Given the description of an element on the screen output the (x, y) to click on. 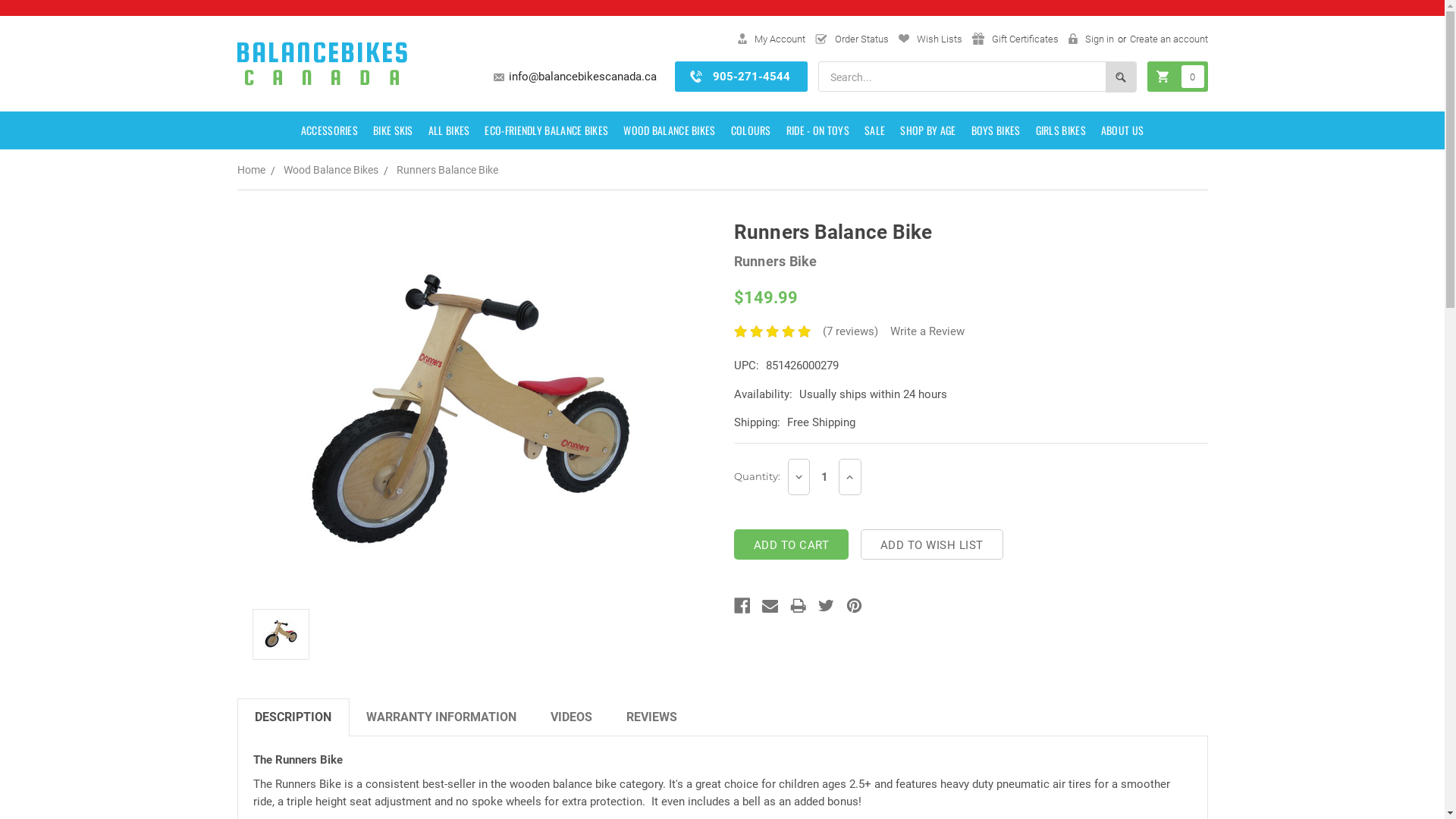
DECREASE QUANTITY: Element type: text (798, 476)
Gift Certificates Element type: text (1015, 39)
DESCRIPTION Element type: text (293, 717)
ACCESSORIES Element type: text (329, 130)
GIRLS BIKES Element type: text (1060, 130)
Order Status Element type: text (851, 39)
Runners Balance Bike Wooden  Element type: hover (281, 633)
Runners Balance Bike Element type: text (446, 169)
My Account Element type: text (770, 39)
ECO-FRIENDLY BALANCE BIKES Element type: text (545, 130)
ALL BIKES Element type: text (448, 130)
COLOURS Element type: text (750, 130)
SHOP BY AGE Element type: text (927, 130)
ABOUT US Element type: text (1122, 130)
Add to Cart Element type: text (791, 544)
905-271-4544 Element type: text (751, 76)
Runners Bike Element type: text (775, 261)
Home Element type: text (250, 169)
SALE Element type: text (874, 130)
Wish Lists Element type: text (929, 39)
WARRANTY INFORMATION Element type: text (440, 717)
Wood Balance Bikes Element type: text (330, 169)
Sign in Element type: text (1090, 39)
INCREASE QUANTITY: Element type: text (849, 476)
info@balancebikescanada.ca Element type: text (581, 76)
Search Element type: text (1120, 77)
VIDEOS Element type: text (571, 717)
Runners Balance Bike Wooden  Element type: hover (473, 410)
BIKE SKIS Element type: text (392, 130)
Balance Bikes Canada Element type: hover (321, 63)
(7 reviews) Element type: text (850, 331)
RIDE - ON TOYS Element type: text (817, 130)
Create an account Element type: text (1168, 39)
REVIEWS Element type: text (651, 717)
BOYS BIKES Element type: text (995, 130)
Write a Review Element type: text (927, 331)
WOOD BALANCE BIKES Element type: text (668, 130)
ADD TO WISH LIST Element type: text (931, 544)
